Given the description of an element on the screen output the (x, y) to click on. 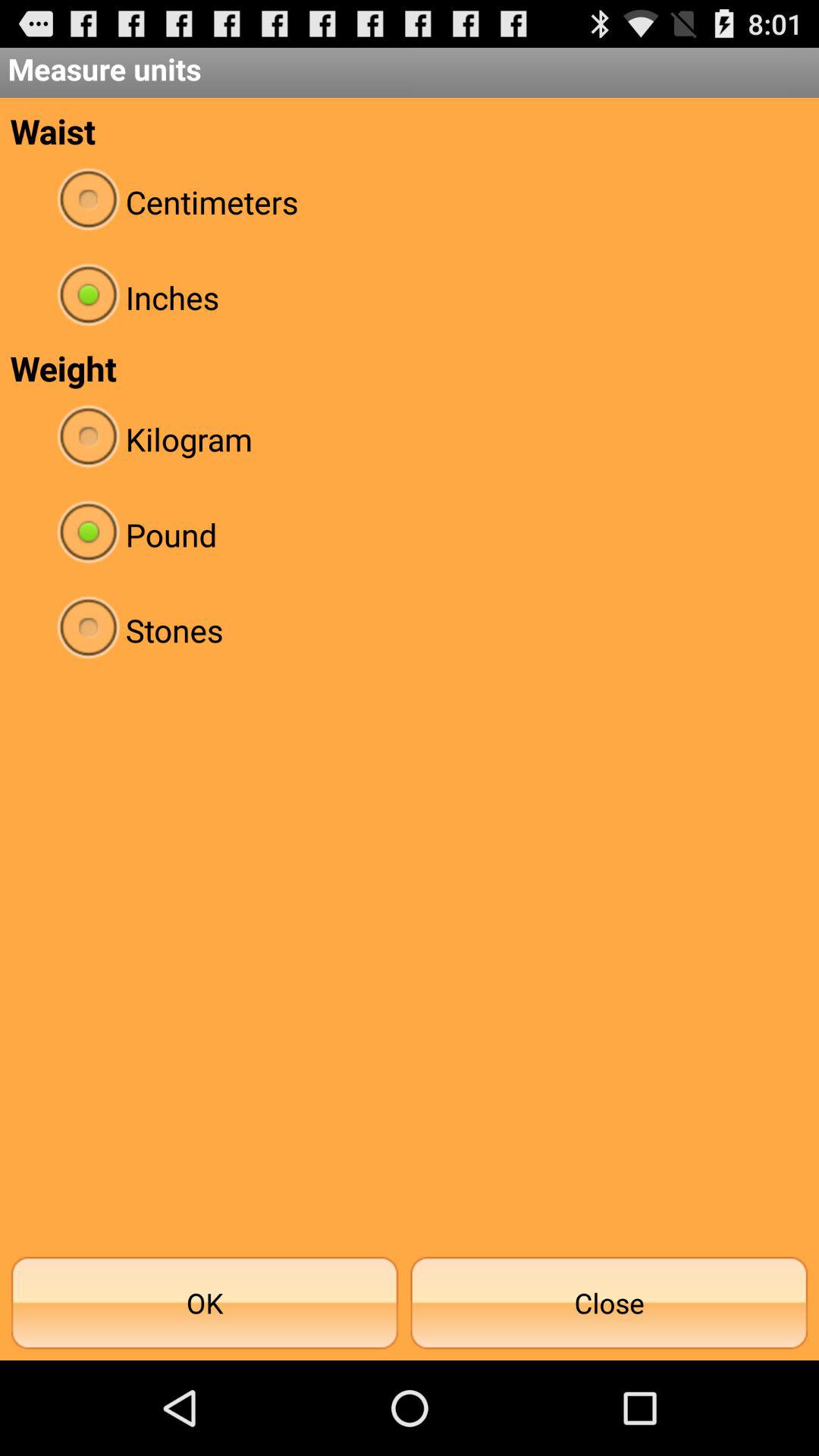
open centimeters item (409, 201)
